Given the description of an element on the screen output the (x, y) to click on. 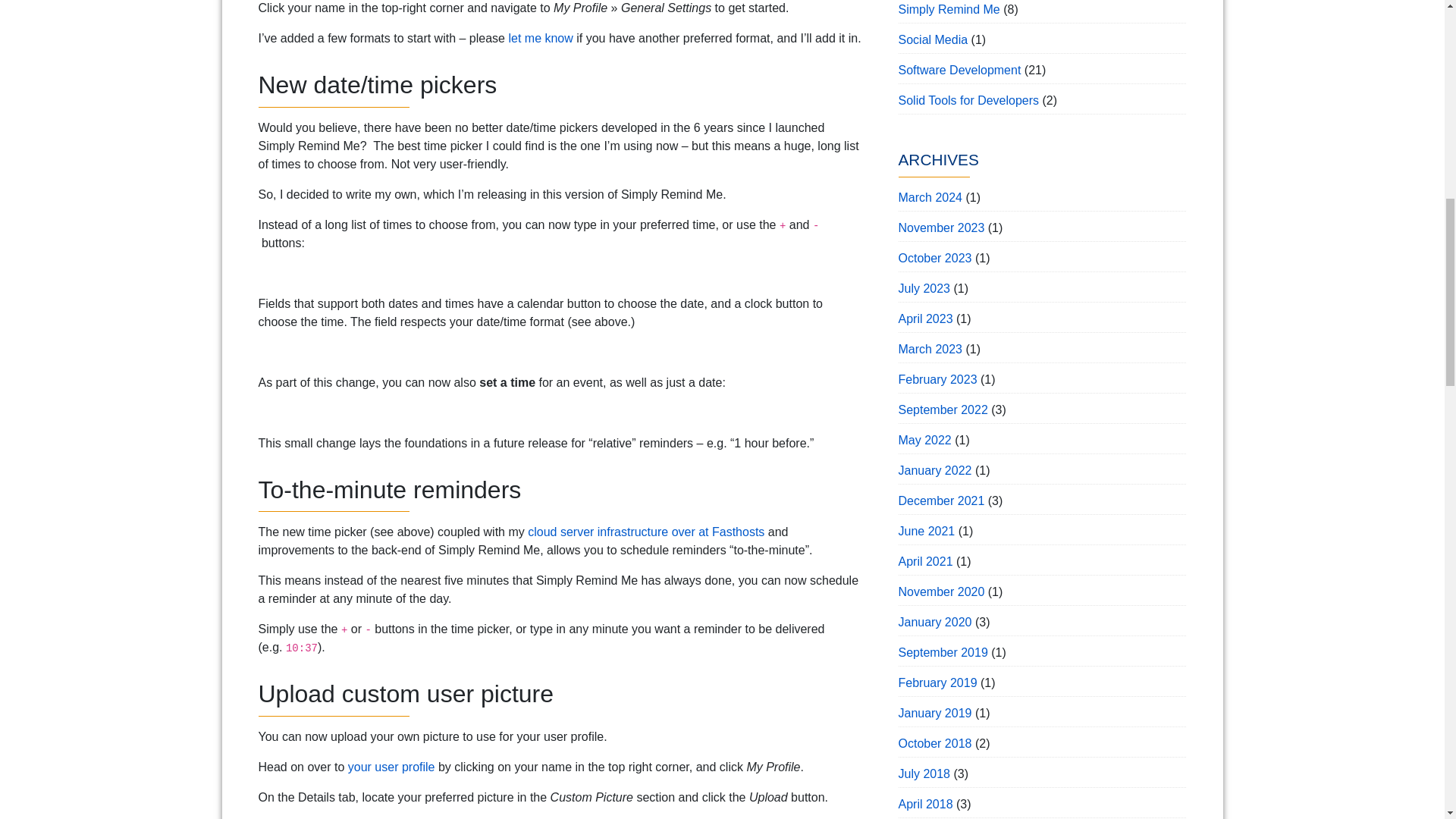
cloud server infrastructure over at Fasthosts (645, 531)
let me know (540, 38)
your user profile (391, 766)
